Given the description of an element on the screen output the (x, y) to click on. 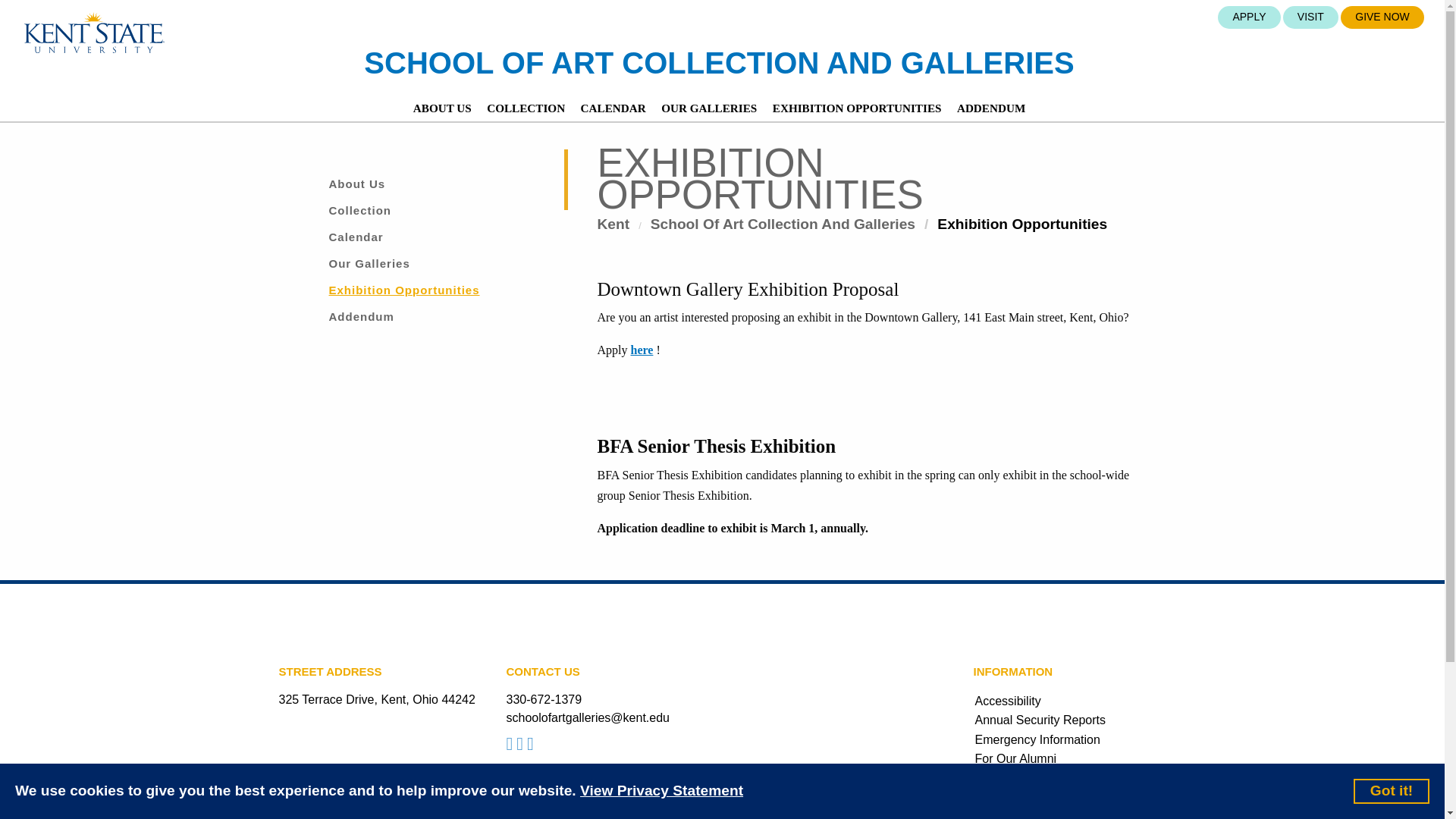
VISIT (1310, 16)
Kent State Unviersity logo (94, 32)
View Privacy Statement (660, 791)
APPLY (1248, 16)
Got it! (1391, 789)
ABOUT US (442, 107)
GIVE NOW (1381, 16)
SCHOOL OF ART COLLECTION AND GALLERIES (719, 63)
